Given the description of an element on the screen output the (x, y) to click on. 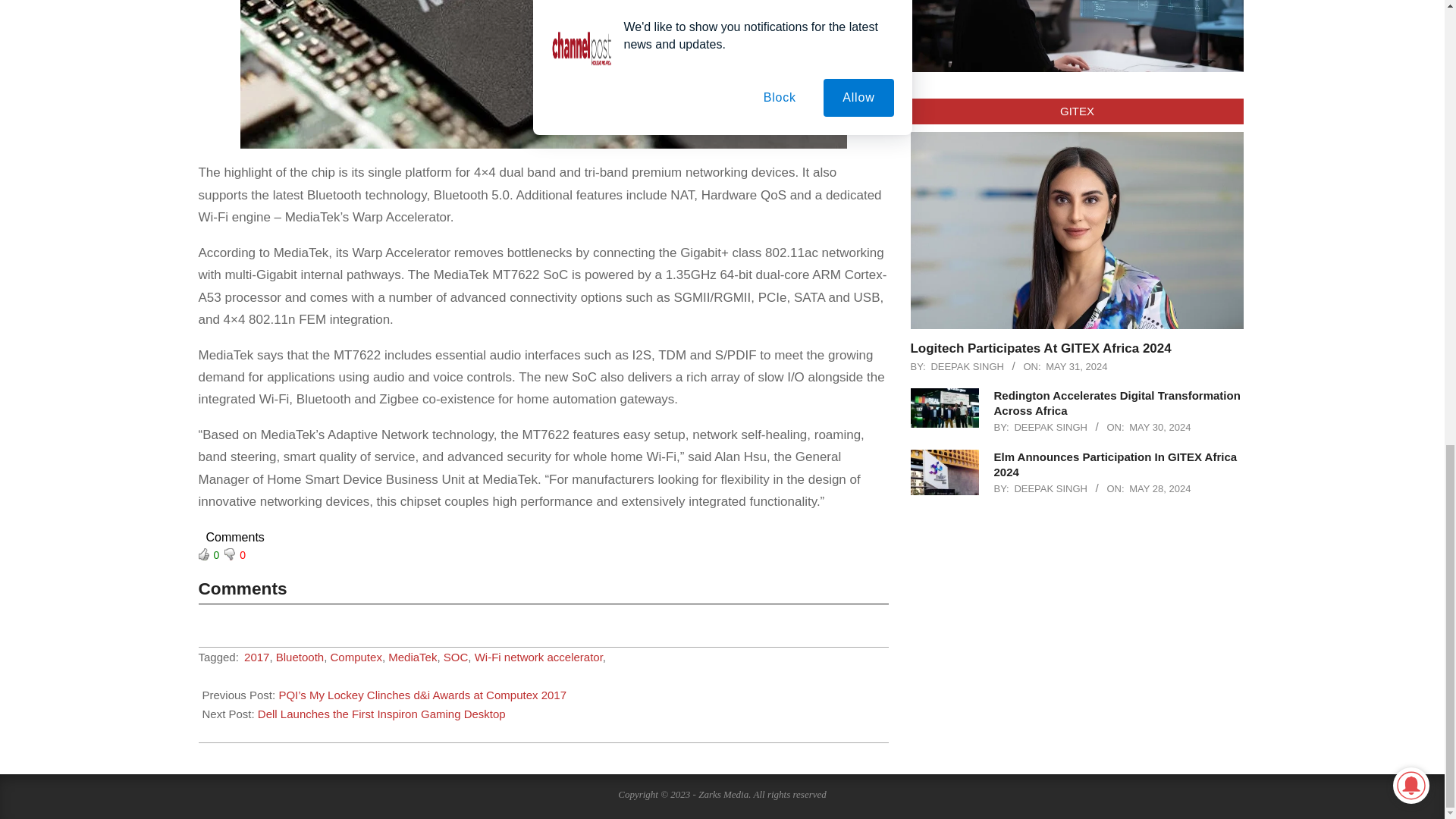
Posts by Deepak Singh (1050, 427)
Friday, May 31, 2024, 2:40 pm (1075, 365)
Posts by Deepak Singh (967, 365)
